Given the description of an element on the screen output the (x, y) to click on. 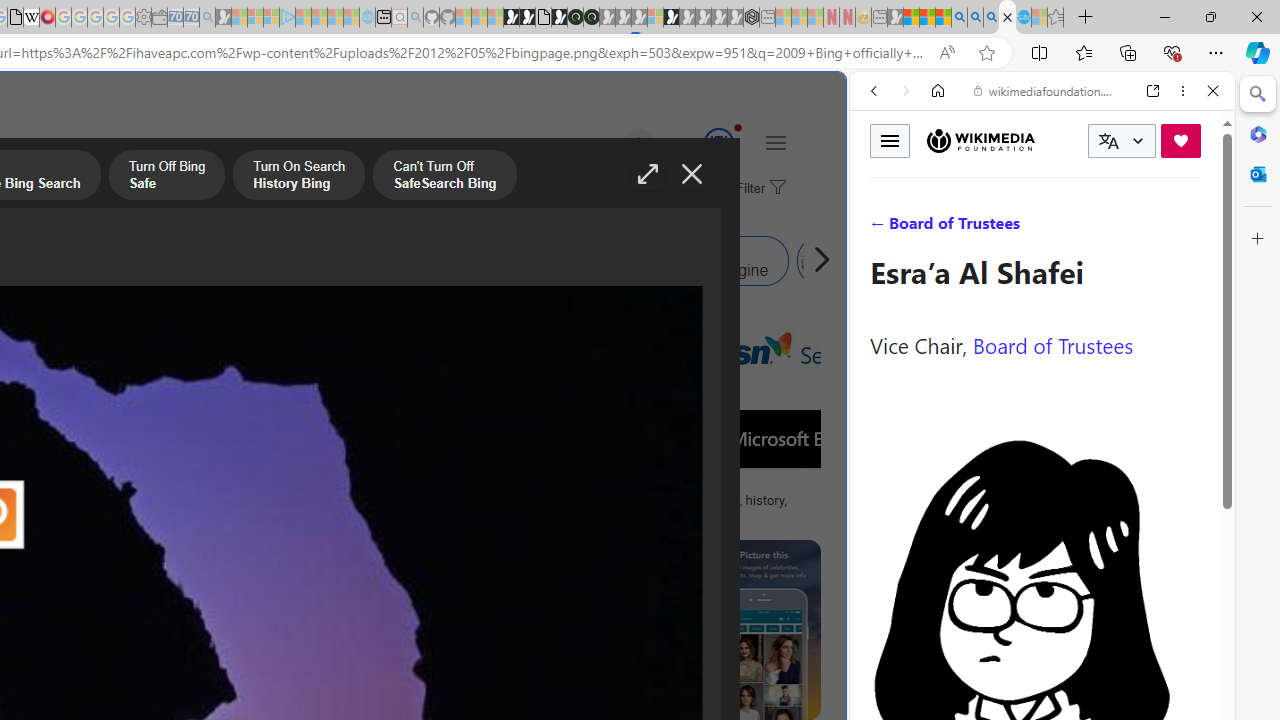
Microsoft Rewards 84 (700, 143)
Board of Trustees (1053, 344)
MSN Homepage Bing Search Engine (69, 260)
Wikimedia Foundation (980, 141)
Bing AI - Search (959, 17)
